Given the description of an element on the screen output the (x, y) to click on. 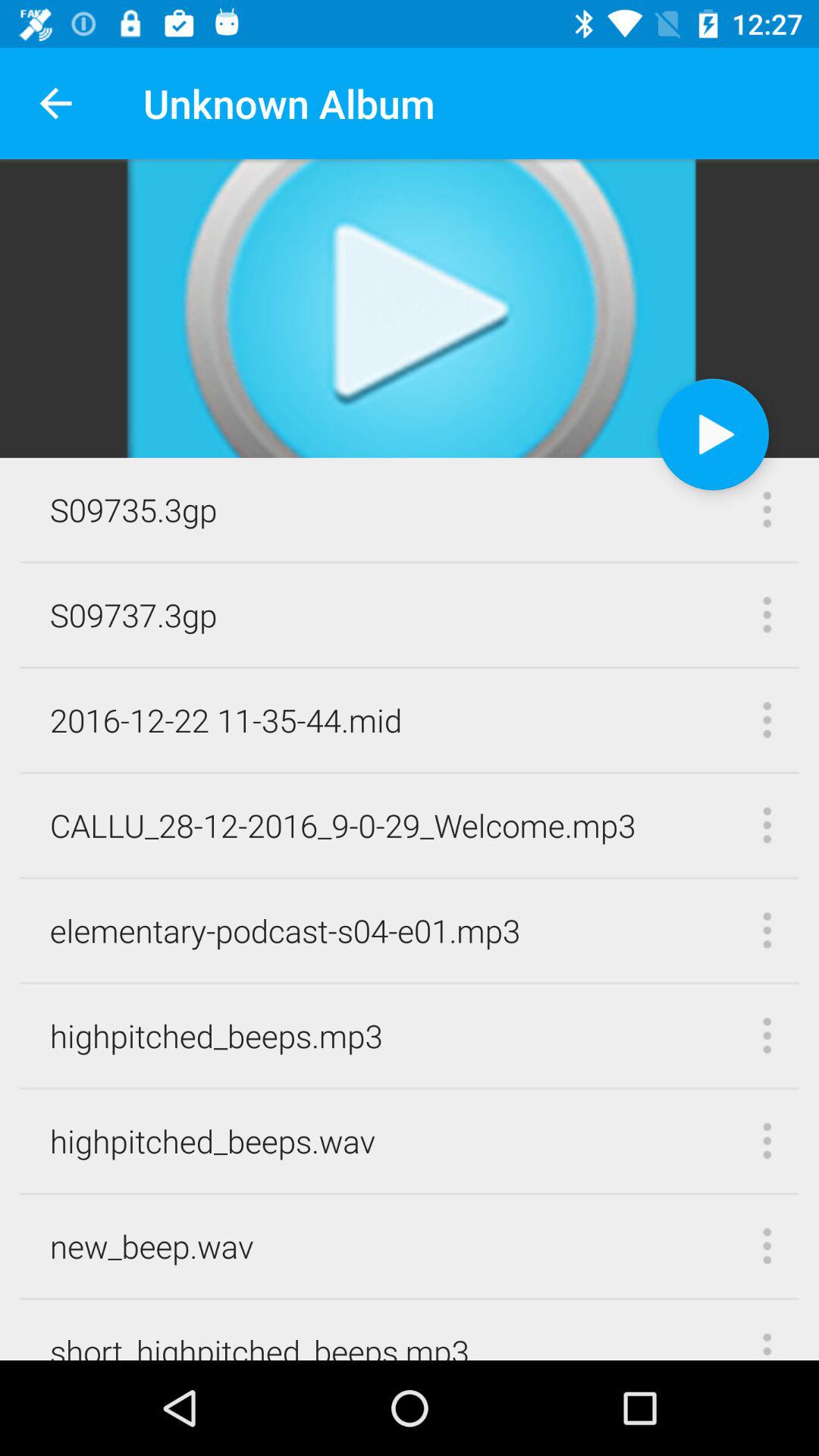
turn off the callu_28 12 2016_9 icon (342, 824)
